Given the description of an element on the screen output the (x, y) to click on. 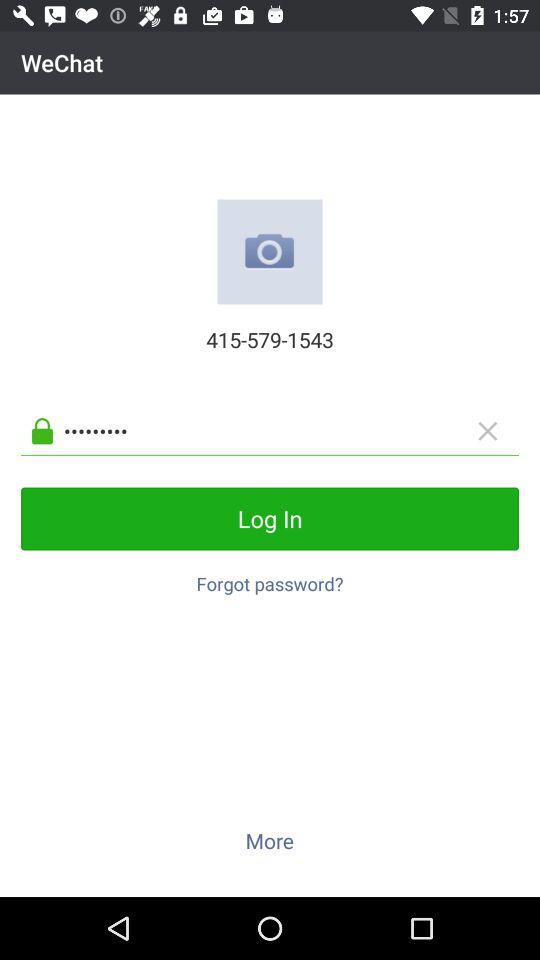
open the item above forgot password? icon (270, 518)
